Given the description of an element on the screen output the (x, y) to click on. 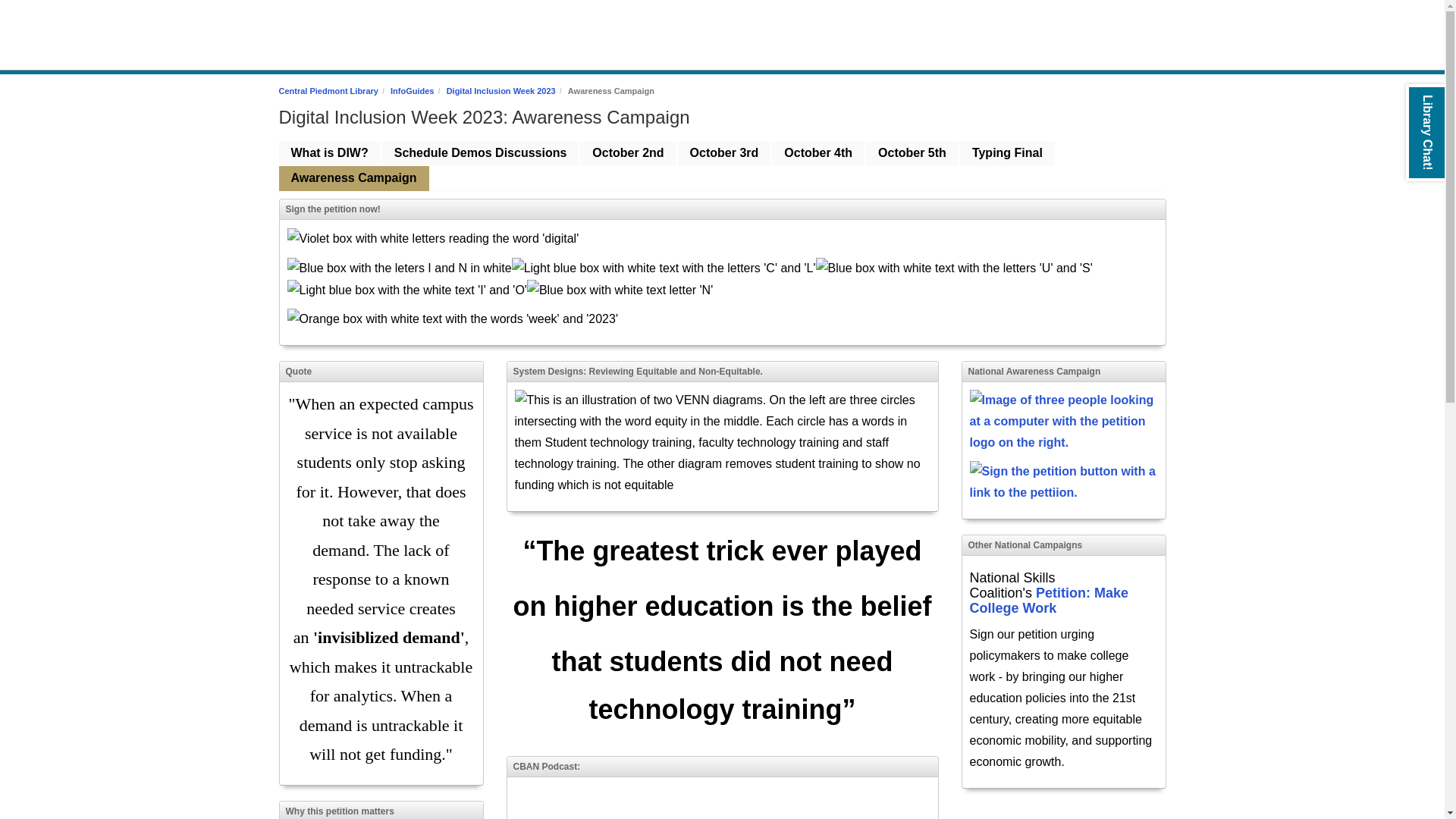
The first day of the Digital Inclusion Week 2023! (627, 153)
Digital Inclusion Week 2023 (501, 90)
Awareness Campaign (354, 178)
October 2nd (627, 153)
The fourth day of the Digital Inclusion Week 2023! (1006, 153)
Schedule Demos Discussions (480, 153)
October 5th (912, 153)
Petition: Make College Work (1048, 600)
